Given the description of an element on the screen output the (x, y) to click on. 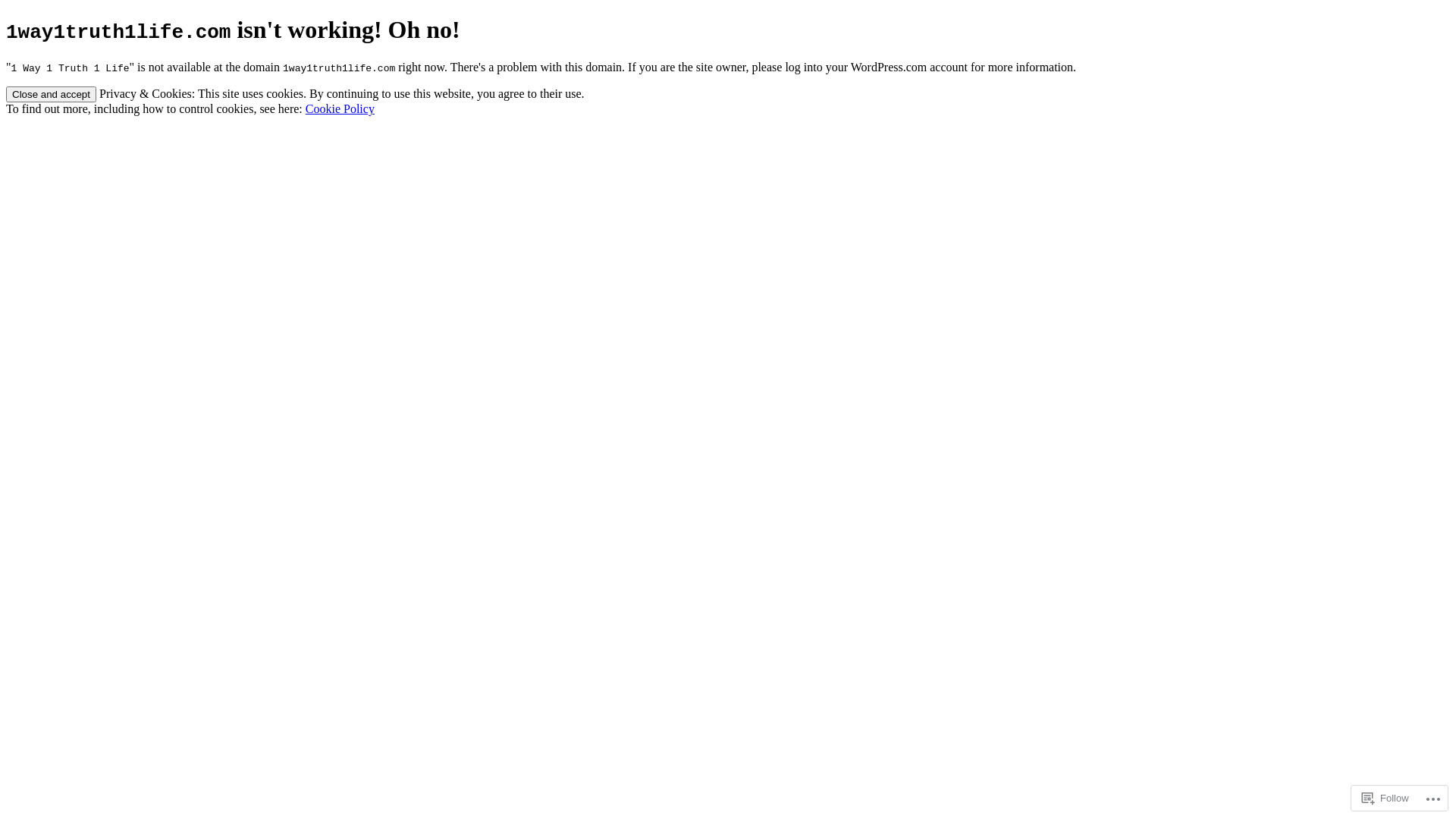
Close and accept Element type: text (51, 94)
Follow Element type: text (1385, 797)
Cookie Policy Element type: text (339, 108)
